Given the description of an element on the screen output the (x, y) to click on. 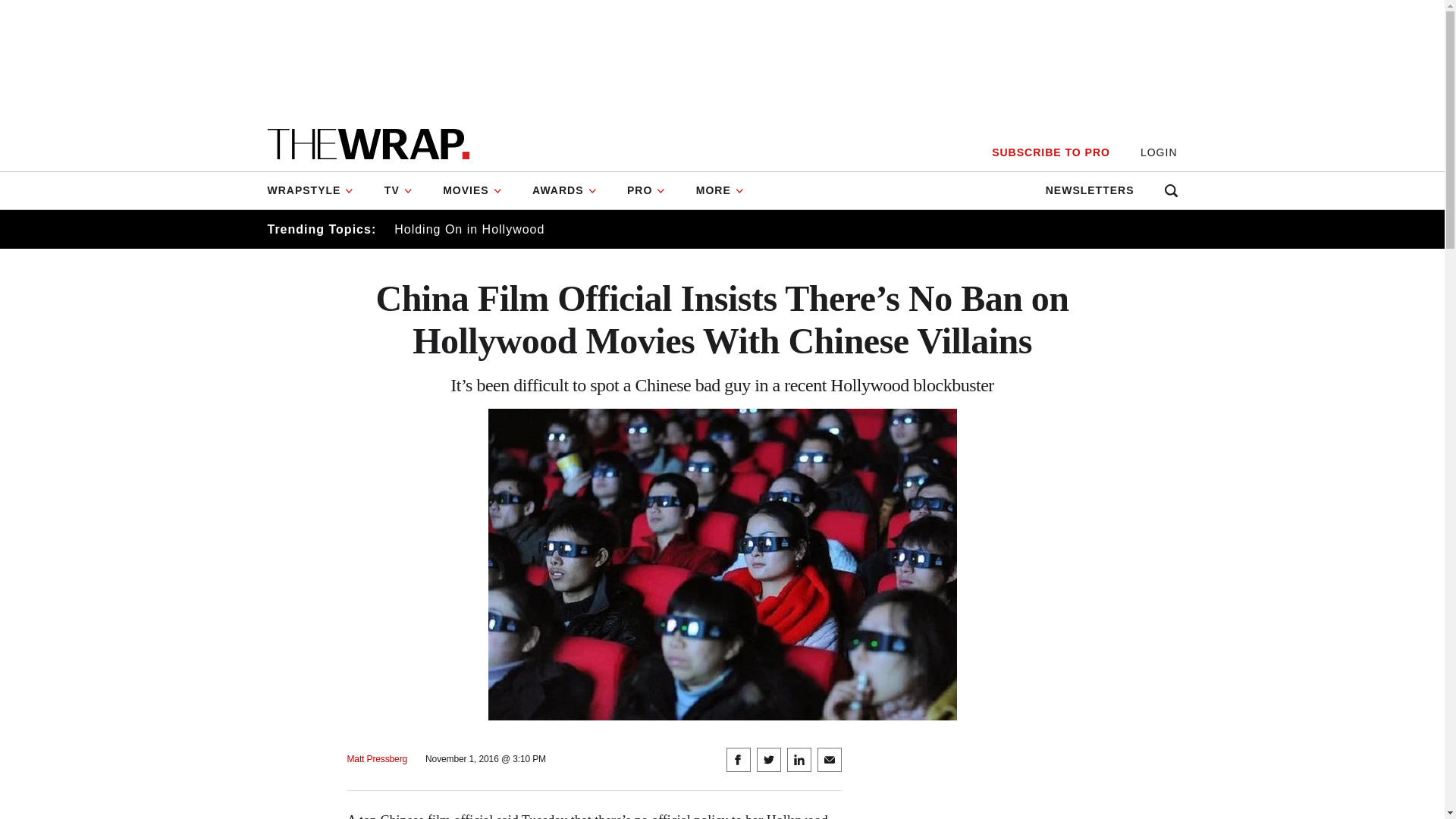
TV (398, 190)
PRO (646, 190)
MORE (719, 190)
MOVIES (472, 190)
WRAPSTYLE (317, 190)
AWARDS (563, 190)
Posts by Matt Pressberg (377, 758)
LOGIN (1158, 152)
SUBSCRIBE TO PRO (1050, 152)
